Given the description of an element on the screen output the (x, y) to click on. 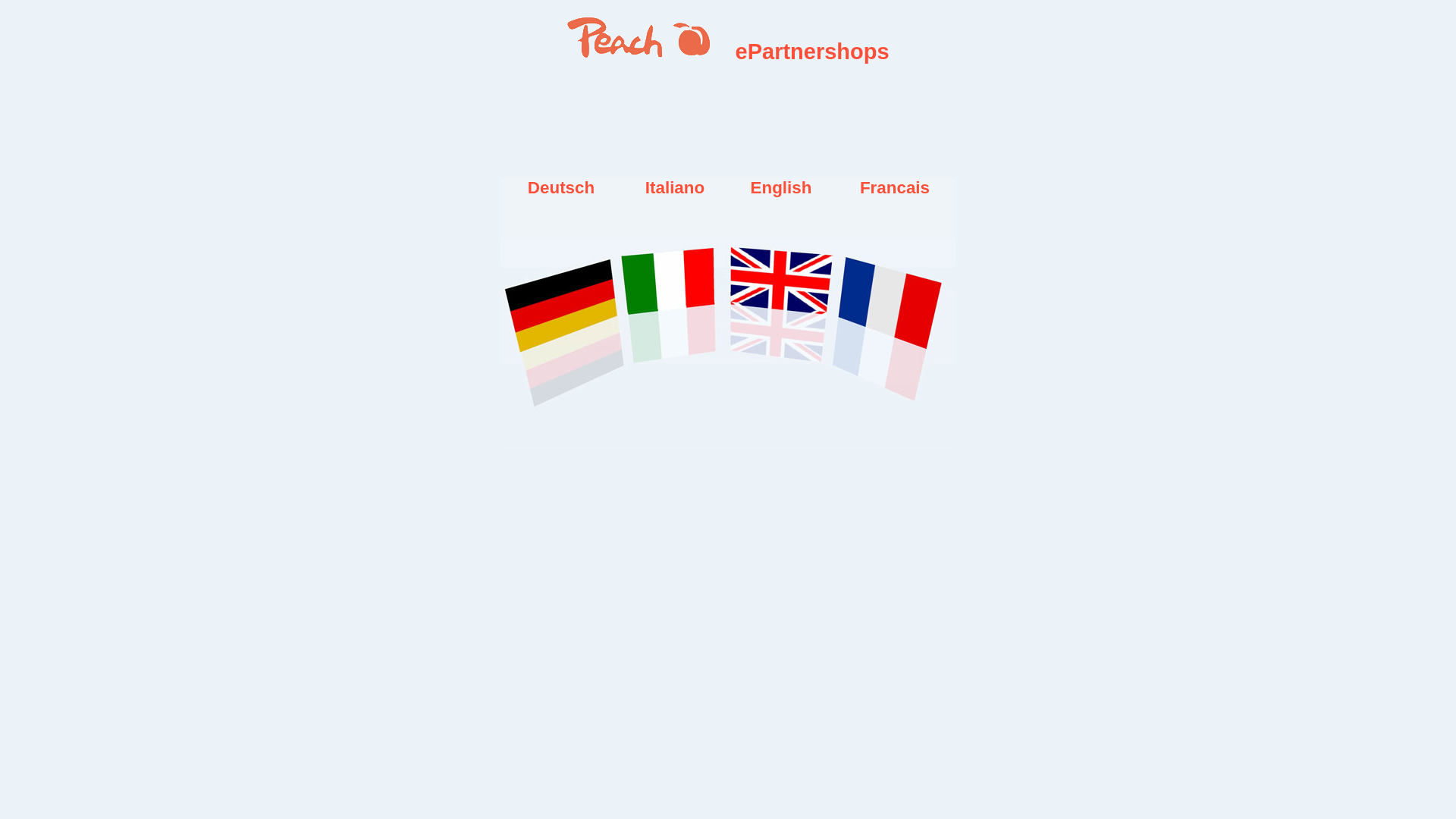
English Element type: text (781, 325)
Francais Element type: text (894, 325)
Deutsch Element type: text (560, 325)
Italiano Element type: text (674, 325)
